Given the description of an element on the screen output the (x, y) to click on. 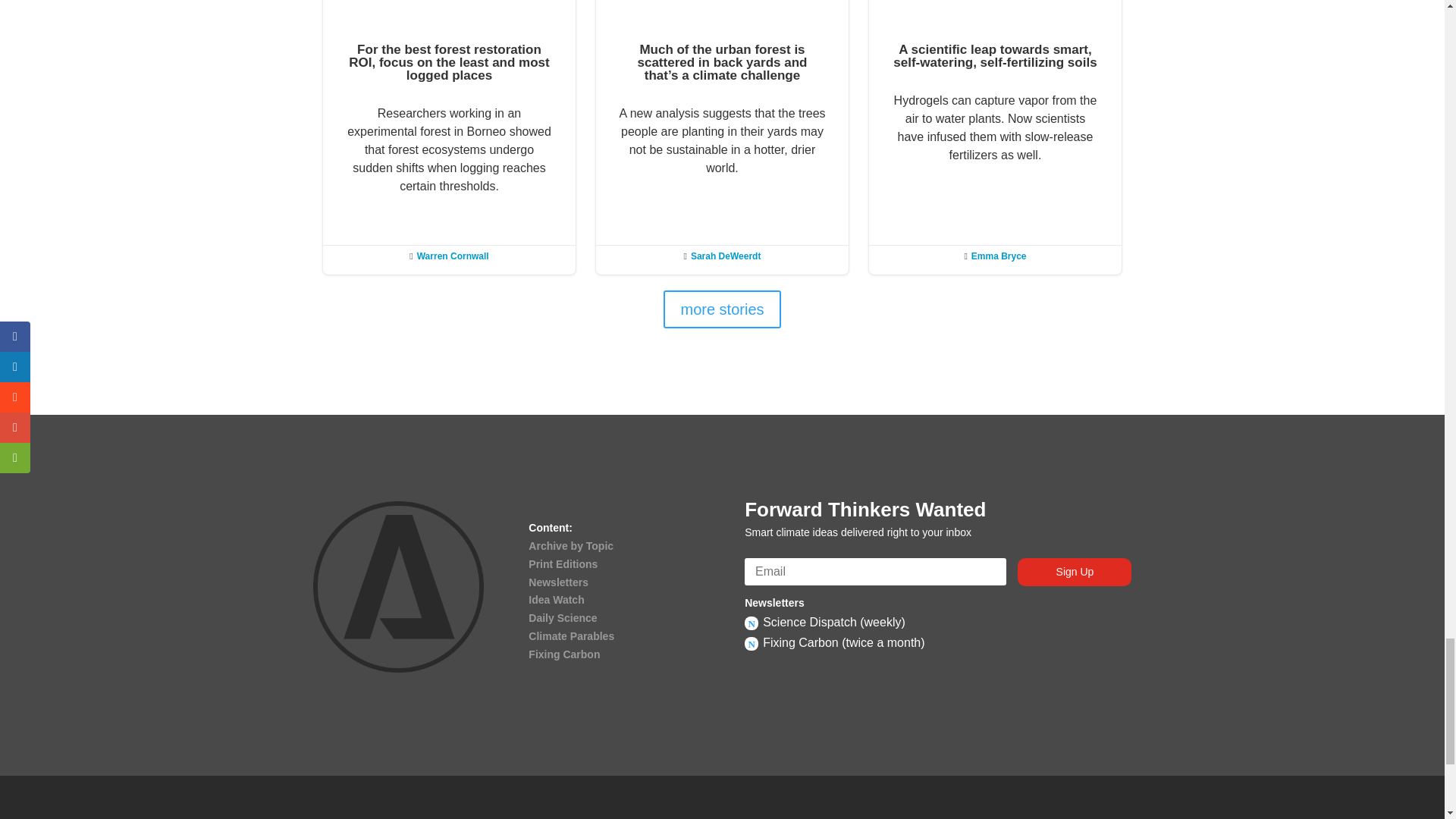
Posts by Sarah DeWeerdt (725, 255)
Posts by Warren Cornwall (452, 255)
Posts by Emma Bryce (998, 255)
